Given the description of an element on the screen output the (x, y) to click on. 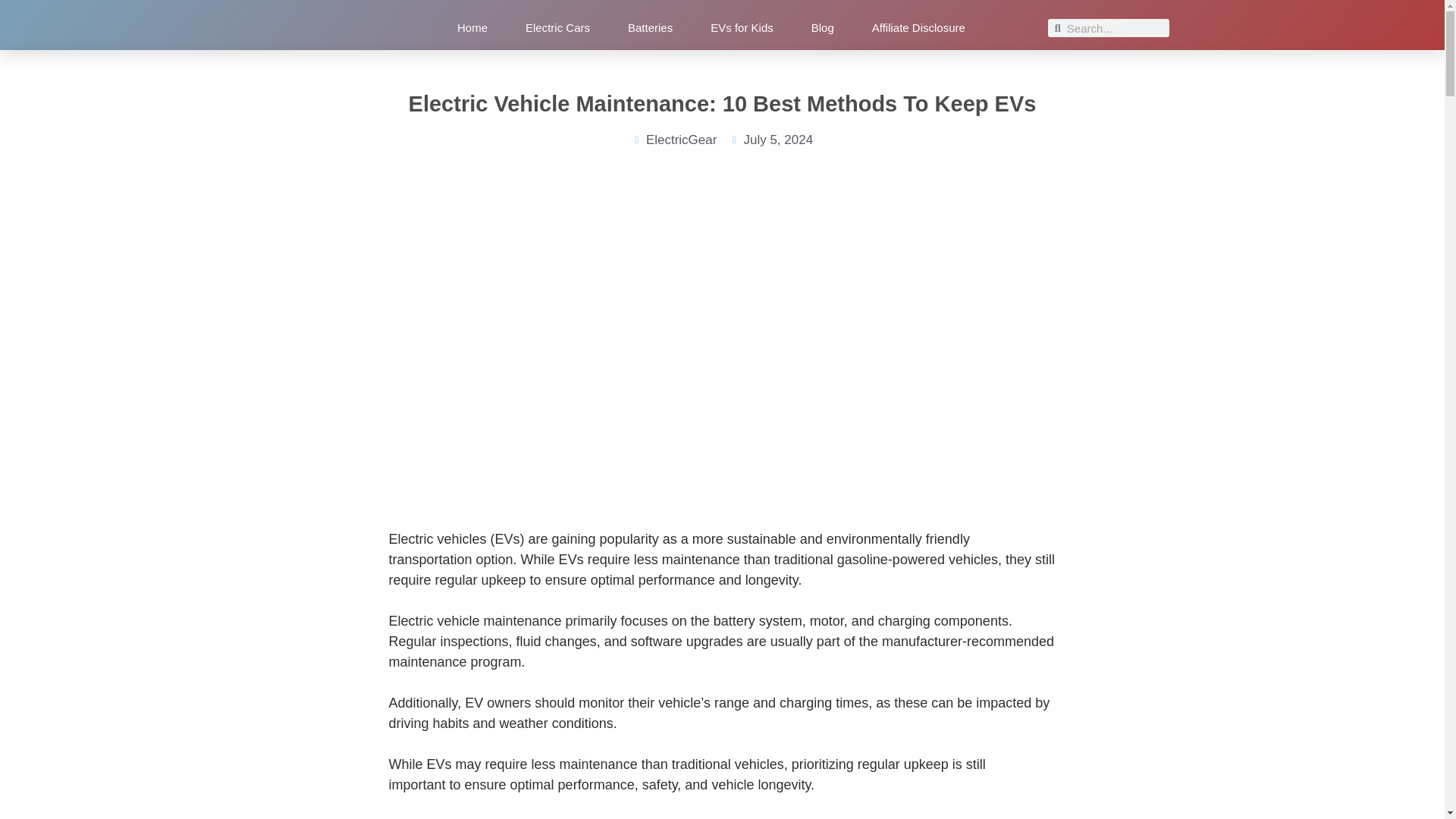
EVs for Kids (741, 31)
Electric Cars (557, 31)
Affiliate Disclosure (918, 31)
